Given the description of an element on the screen output the (x, y) to click on. 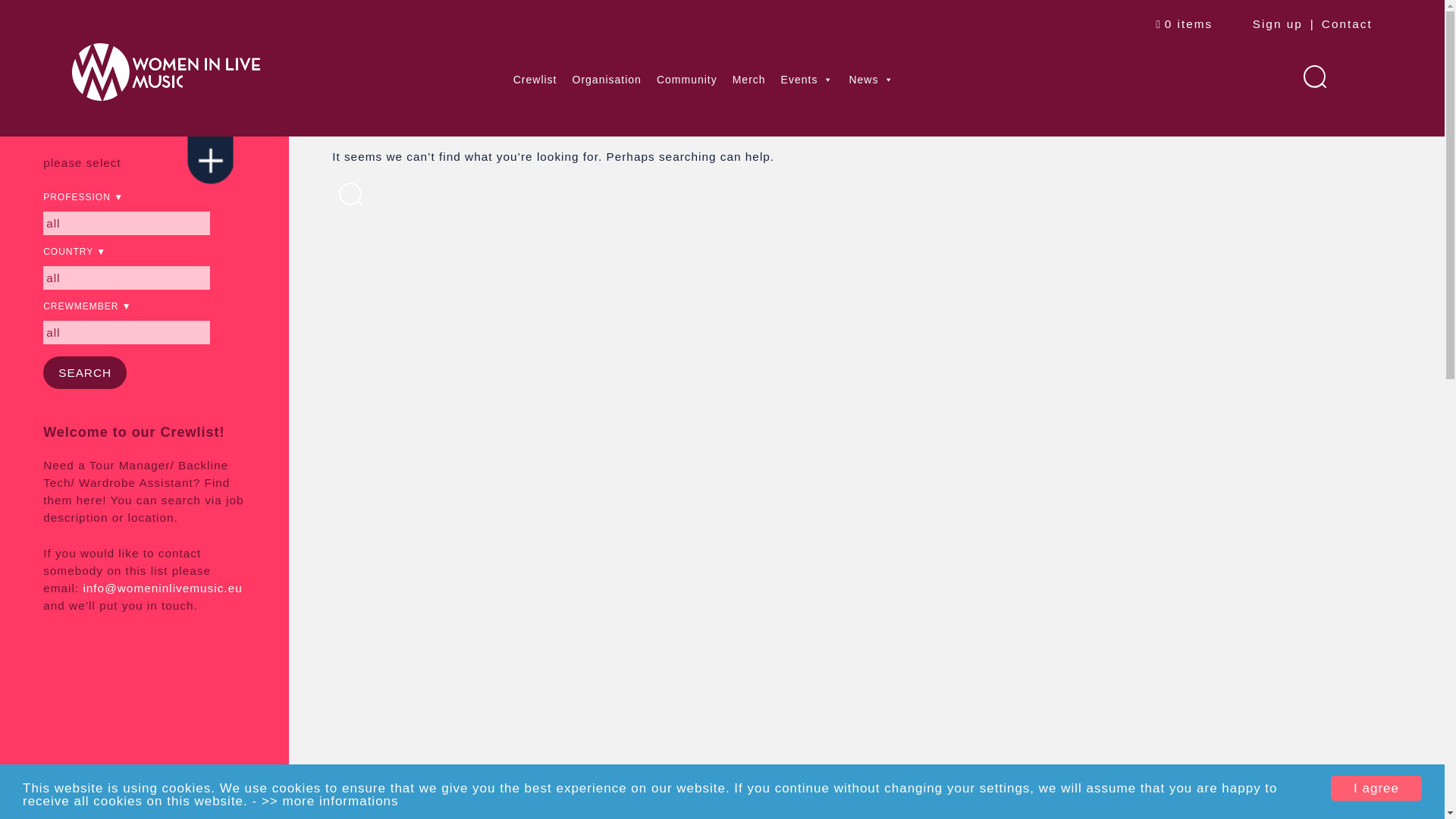
Events (807, 78)
0 items (1184, 21)
search (84, 372)
Search (21, 9)
Organisation (606, 78)
Community (687, 78)
Contact (1347, 21)
News (871, 78)
search (84, 372)
Merch (749, 78)
Search for: (1313, 76)
Crewlist (534, 78)
  Sign up (1273, 21)
Start shopping (1184, 21)
